Given the description of an element on the screen output the (x, y) to click on. 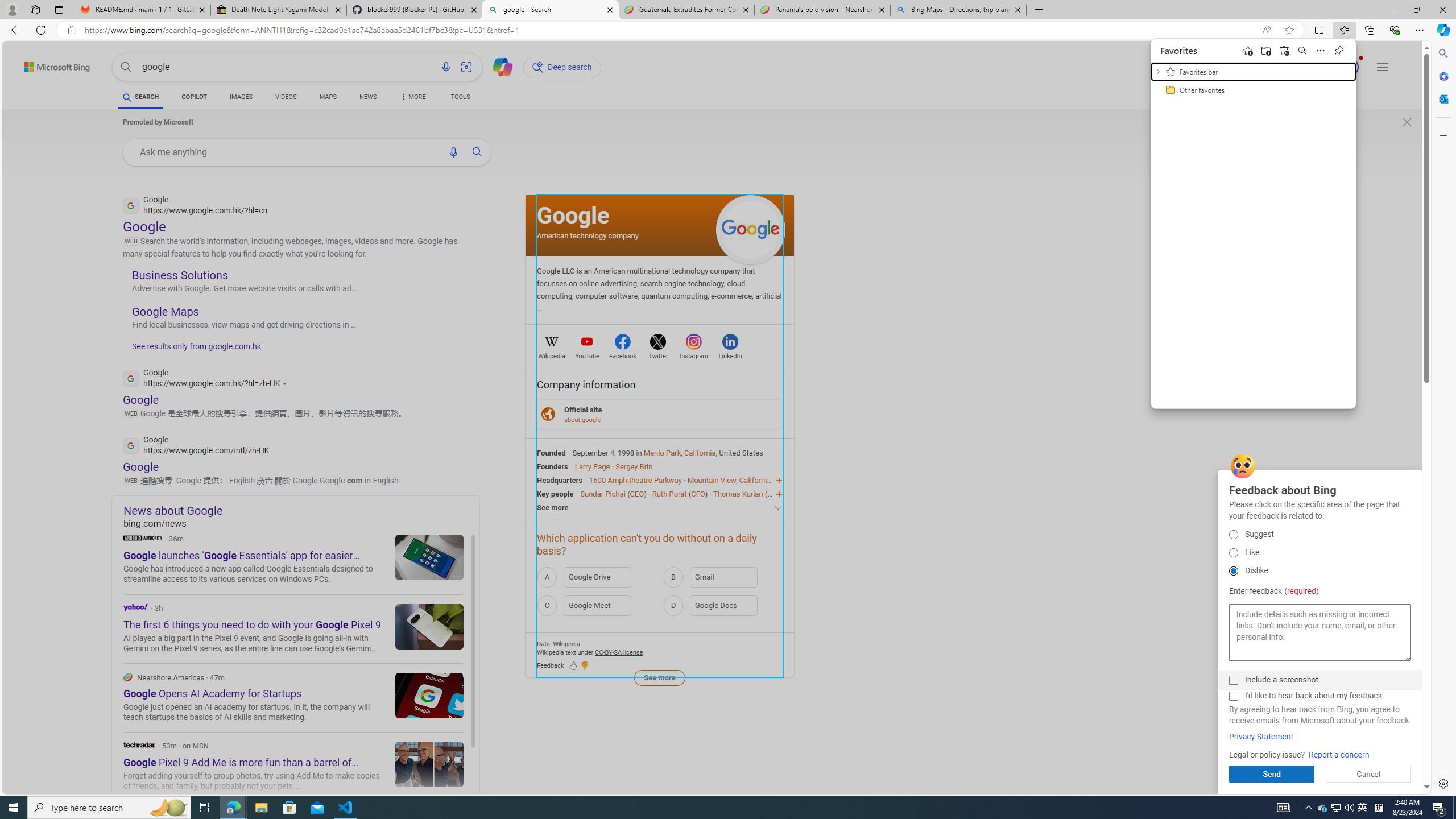
Include a screenshot (1232, 679)
Q2790: 100% (1349, 807)
Add this page to favorites (1247, 49)
Show desktop (1454, 807)
